Given the description of an element on the screen output the (x, y) to click on. 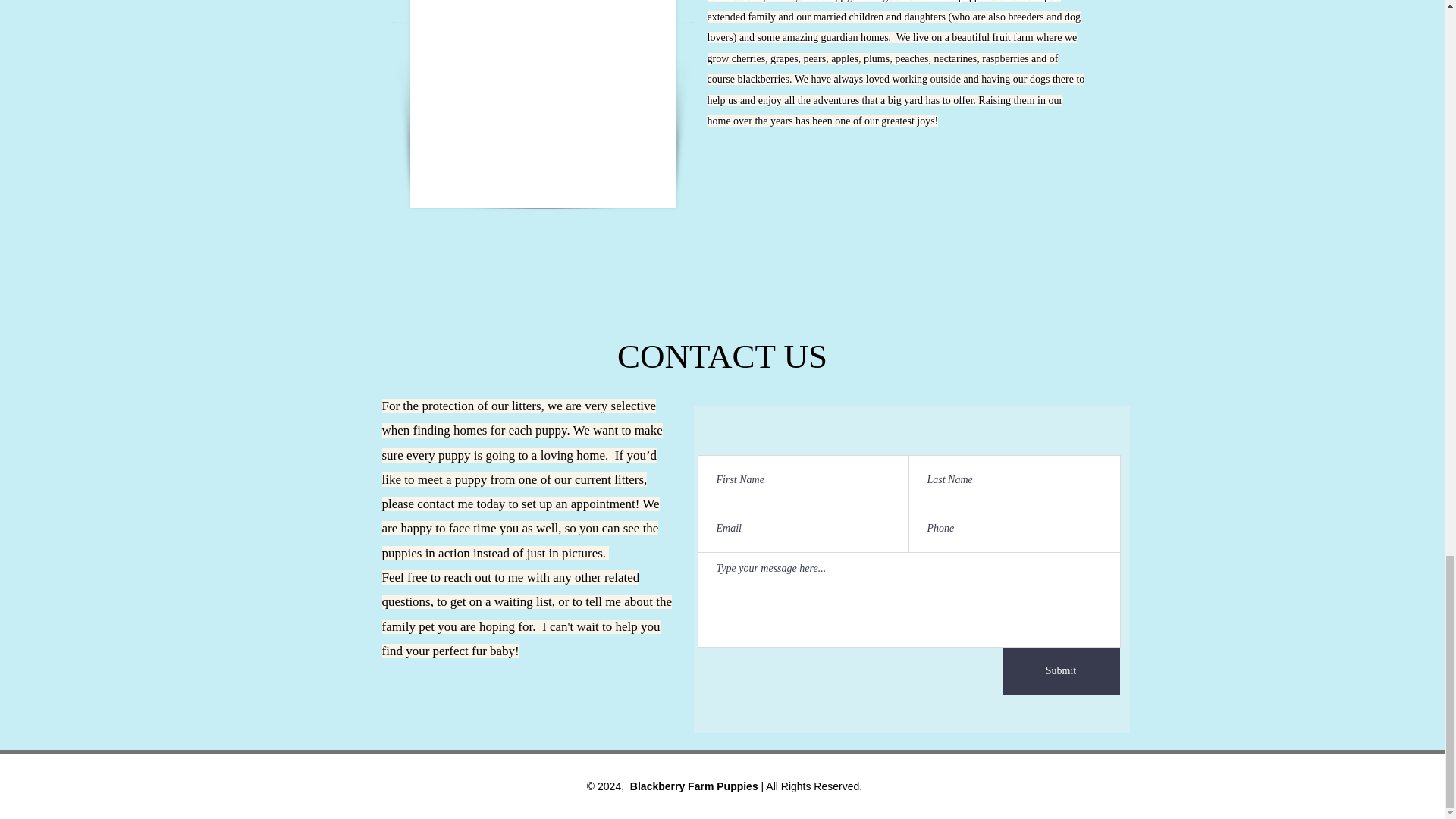
Submit (1061, 670)
